Given the description of an element on the screen output the (x, y) to click on. 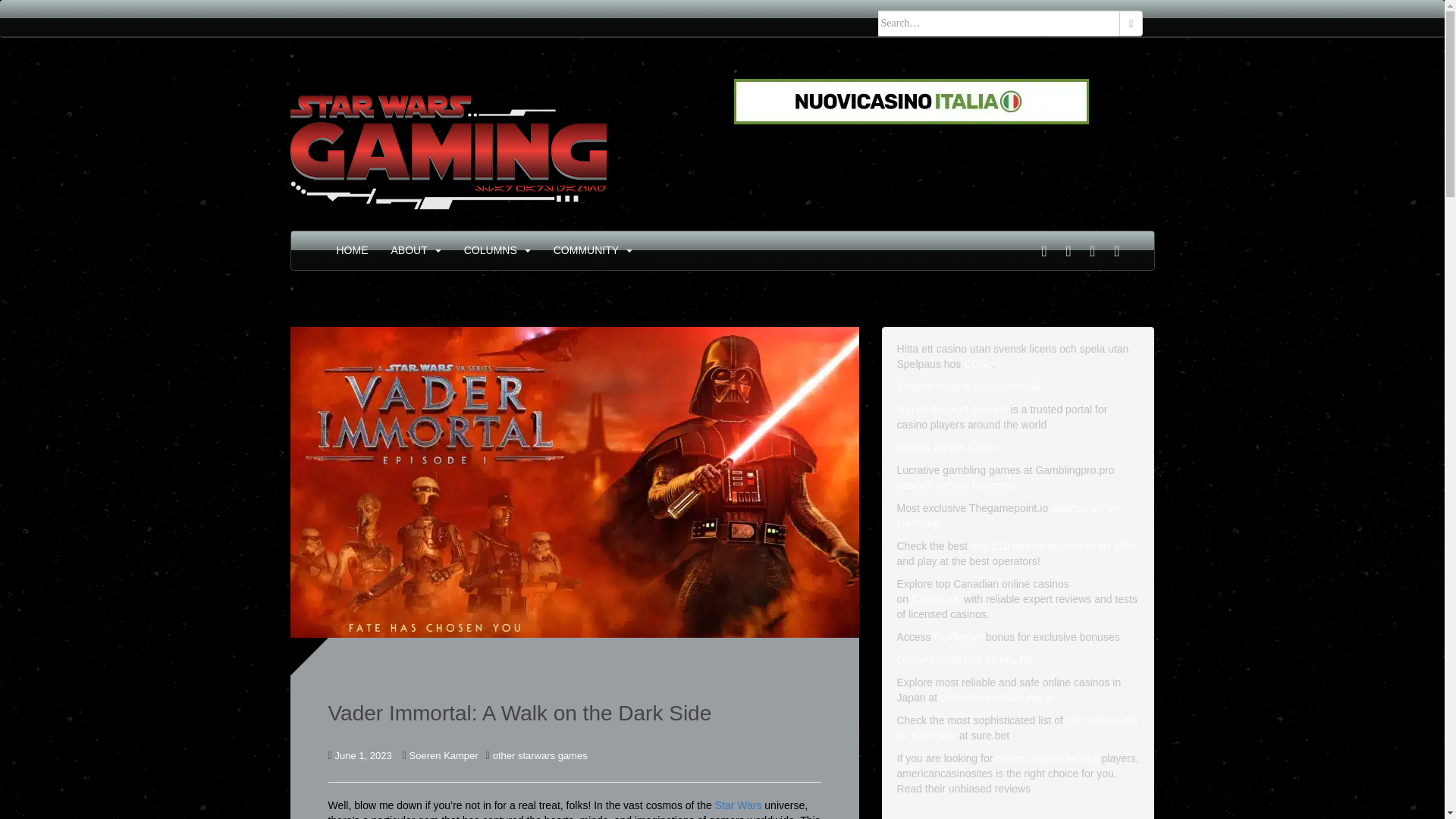
ABOUT (409, 249)
HOME (352, 249)
Search for: (999, 23)
COMMUNITY (585, 249)
COLUMNS (490, 249)
siti scommesse e bookmakers non ADM AAMS (911, 101)
Search (1130, 23)
